Given the description of an element on the screen output the (x, y) to click on. 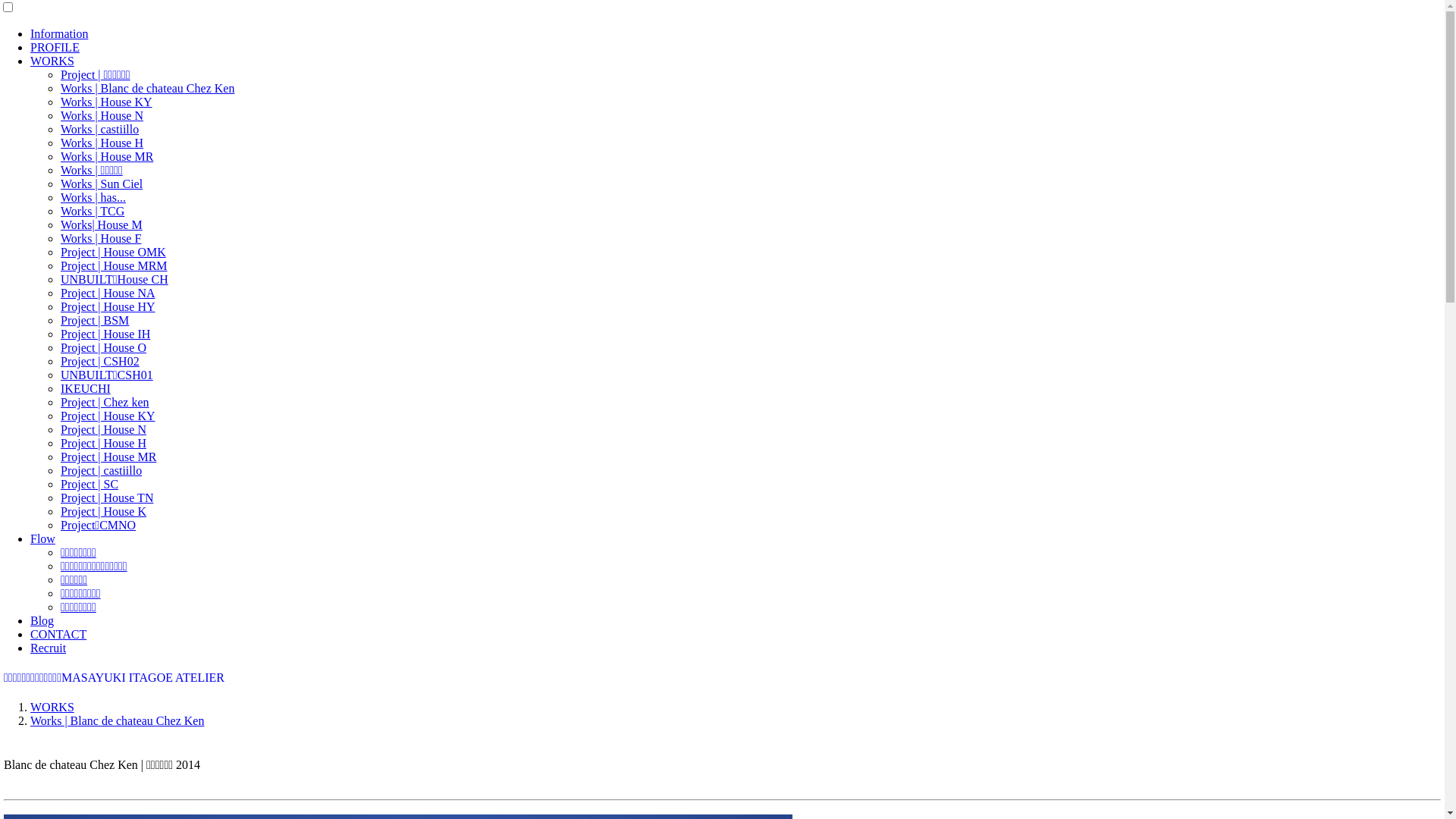
Project | House OMK Element type: text (113, 251)
Project | House MRM Element type: text (113, 265)
Works | TCG Element type: text (92, 210)
Works | House H Element type: text (101, 142)
Project | SC Element type: text (89, 483)
IKEUCHI Element type: text (85, 388)
Recruit Element type: text (47, 647)
CONTACT Element type: text (58, 633)
Project | House MR Element type: text (108, 456)
Works | Sun Ciel Element type: text (101, 183)
Project | House O Element type: text (103, 347)
Works | Blanc de chateau Chez Ken Element type: text (116, 720)
Works | House MR Element type: text (106, 156)
Project | BSM Element type: text (94, 319)
Works | House N Element type: text (101, 115)
Information Element type: text (58, 33)
Works | has... Element type: text (92, 197)
Flow Element type: text (42, 538)
Blog Element type: text (41, 620)
Works | castiillo Element type: text (99, 128)
Project | CSH02 Element type: text (99, 360)
Works | Blanc de chateau Chez Ken Element type: text (147, 87)
Works | House KY Element type: text (106, 101)
WORKS Element type: text (52, 60)
Works | House F Element type: text (100, 238)
Project | House IH Element type: text (105, 333)
Project | House KY Element type: text (107, 415)
WORKS Element type: text (52, 706)
Project | House HY Element type: text (107, 306)
Project | House TN Element type: text (106, 497)
Project | castiillo Element type: text (100, 470)
Project | Chez ken Element type: text (104, 401)
Project | House N Element type: text (103, 429)
PROFILE Element type: text (54, 46)
Project | House H Element type: text (103, 442)
Works| House M Element type: text (101, 224)
Project | House K Element type: text (103, 511)
Project | House NA Element type: text (107, 292)
